Given the description of an element on the screen output the (x, y) to click on. 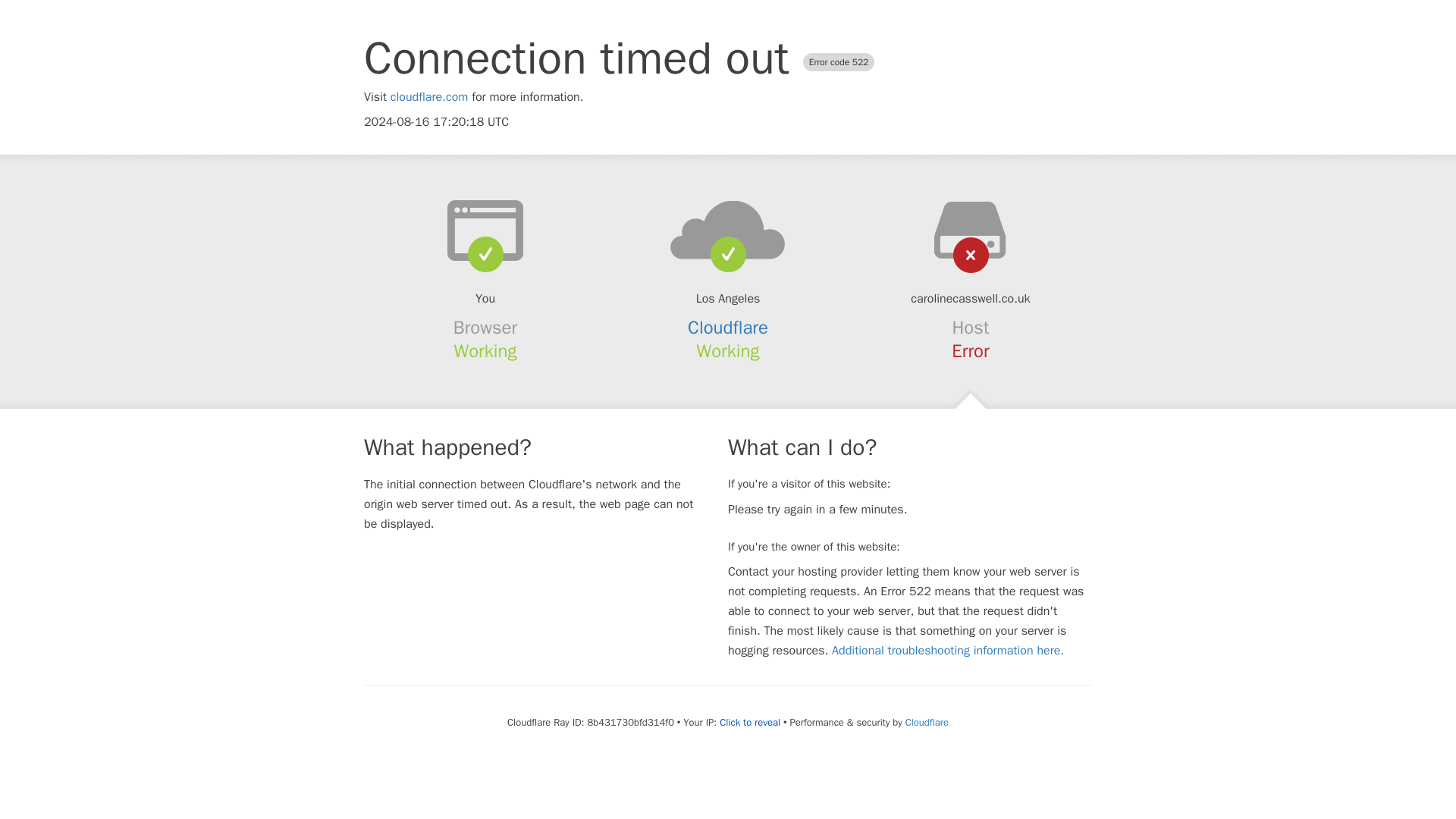
Additional troubleshooting information here. (947, 650)
Cloudflare (727, 327)
cloudflare.com (429, 96)
Cloudflare (927, 721)
Click to reveal (749, 722)
